Given the description of an element on the screen output the (x, y) to click on. 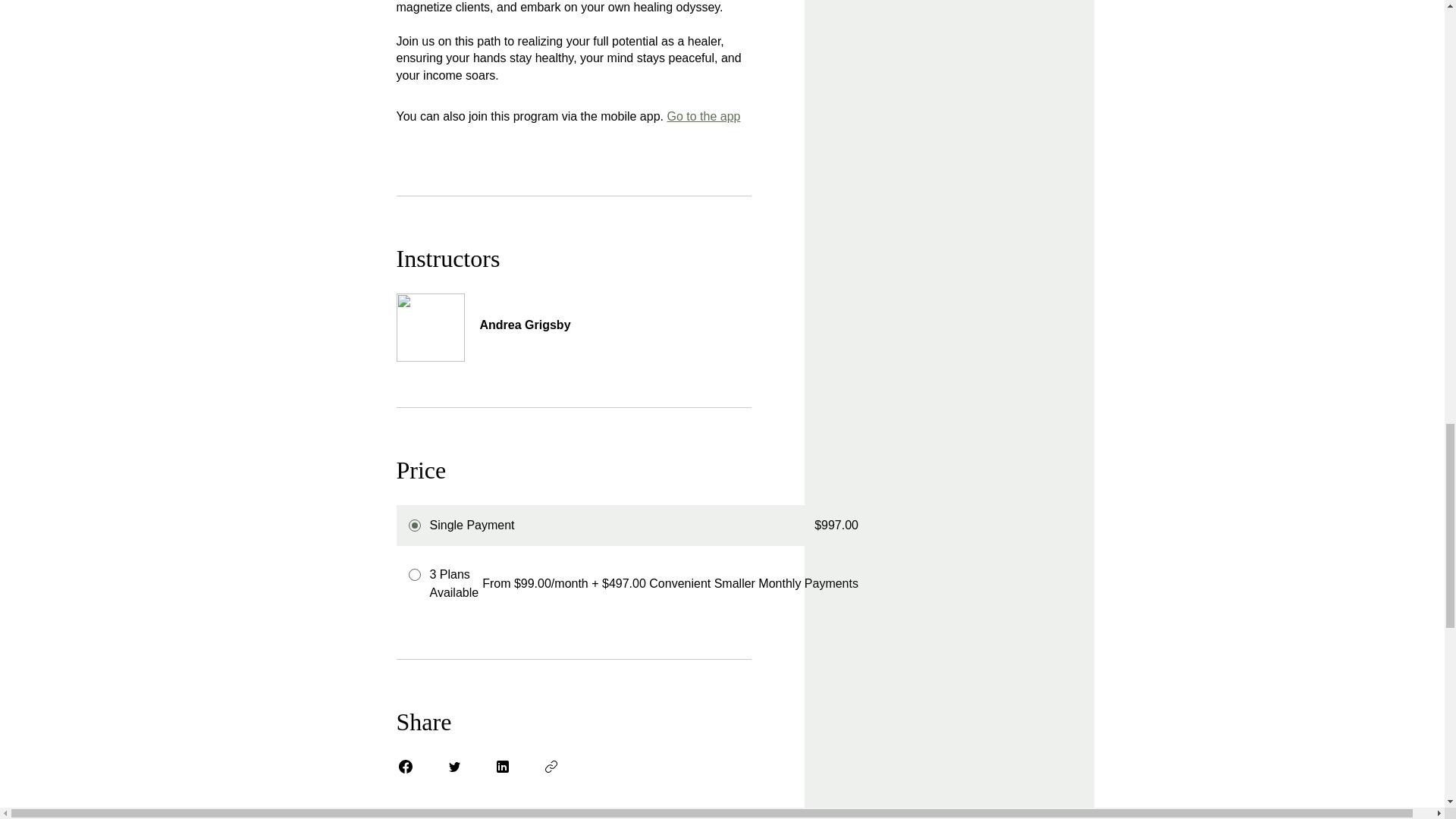
Go to the app (702, 115)
Andrea Grigsby (573, 316)
